Given the description of an element on the screen output the (x, y) to click on. 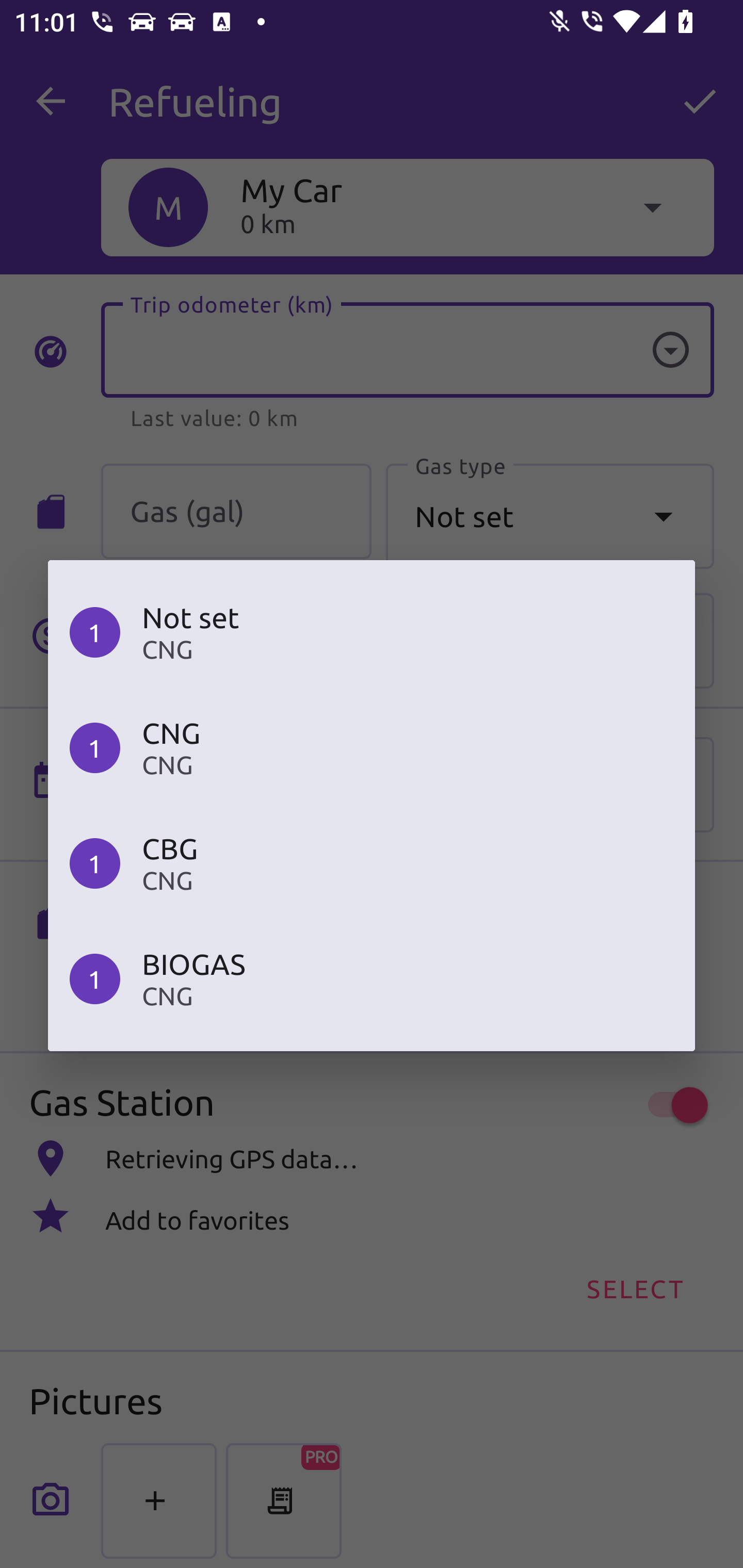
1 Not set CNG (371, 631)
1 CNG CNG (371, 747)
1 CBG CNG (371, 863)
1 BIOGAS CNG (371, 978)
